Given the description of an element on the screen output the (x, y) to click on. 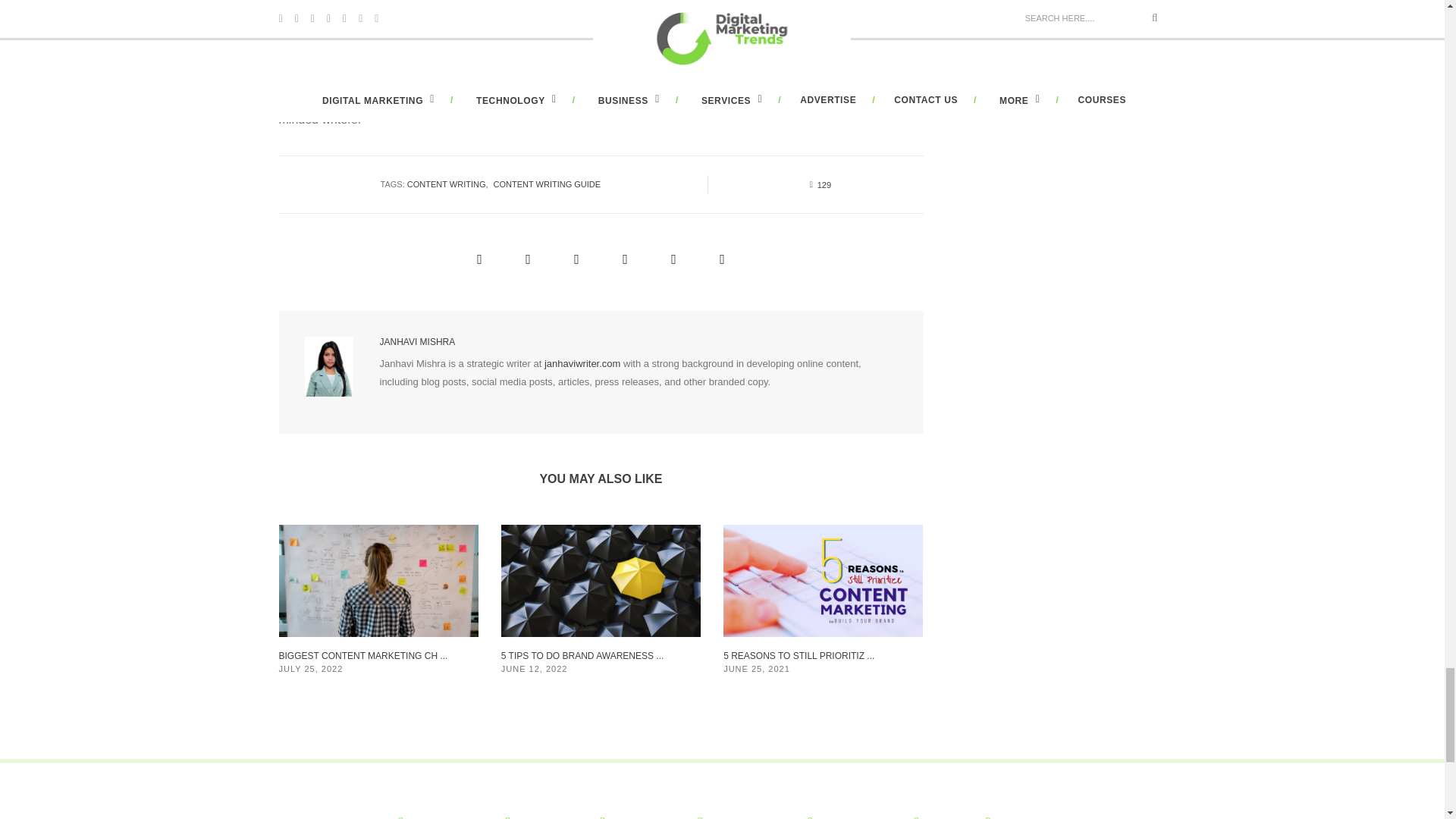
Like (815, 184)
